Given the description of an element on the screen output the (x, y) to click on. 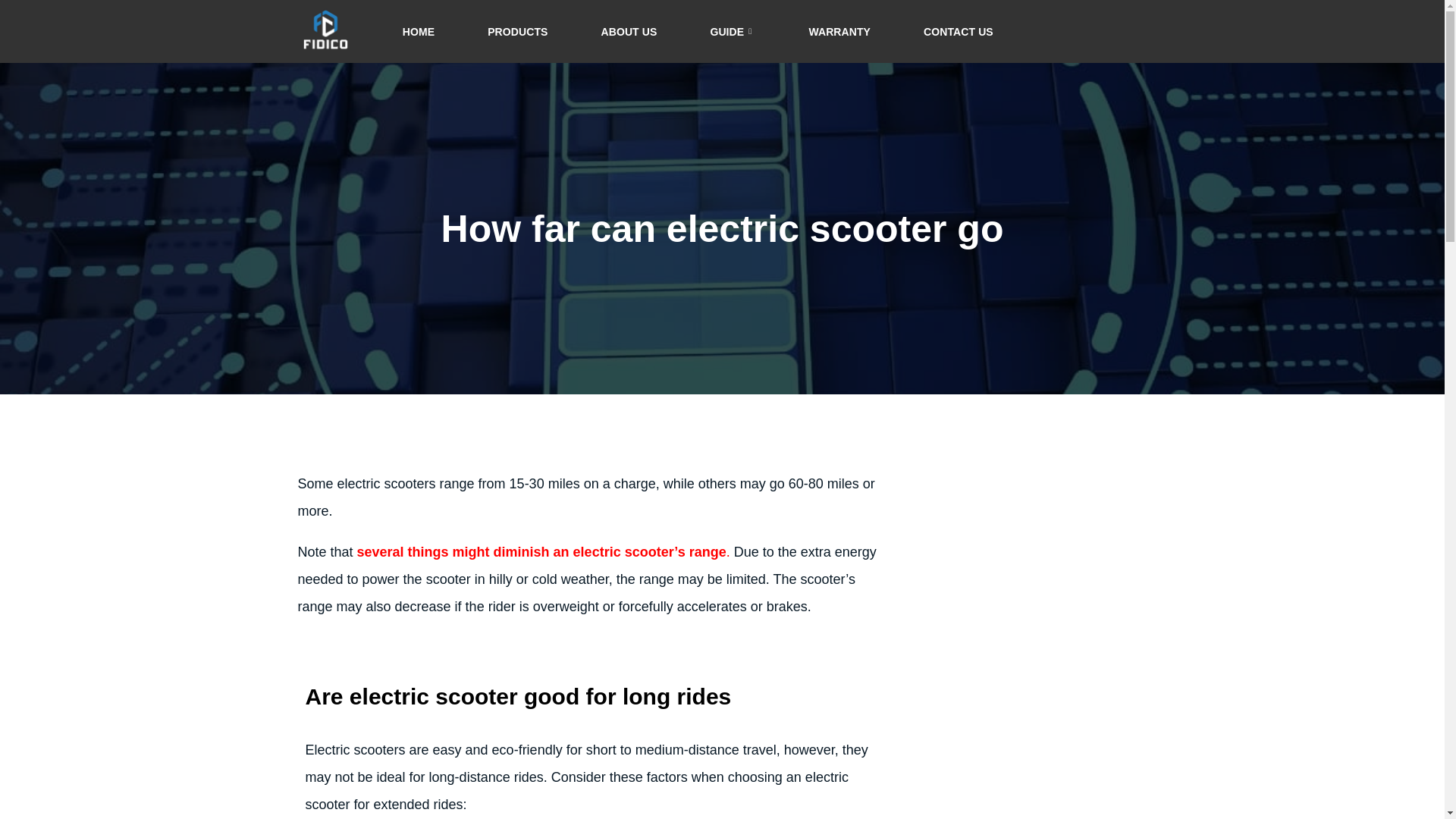
CONTACT US (958, 31)
ABOUT US (627, 31)
GUIDE (731, 31)
PRODUCTS (517, 31)
HOME (418, 31)
WARRANTY (838, 31)
